Given the description of an element on the screen output the (x, y) to click on. 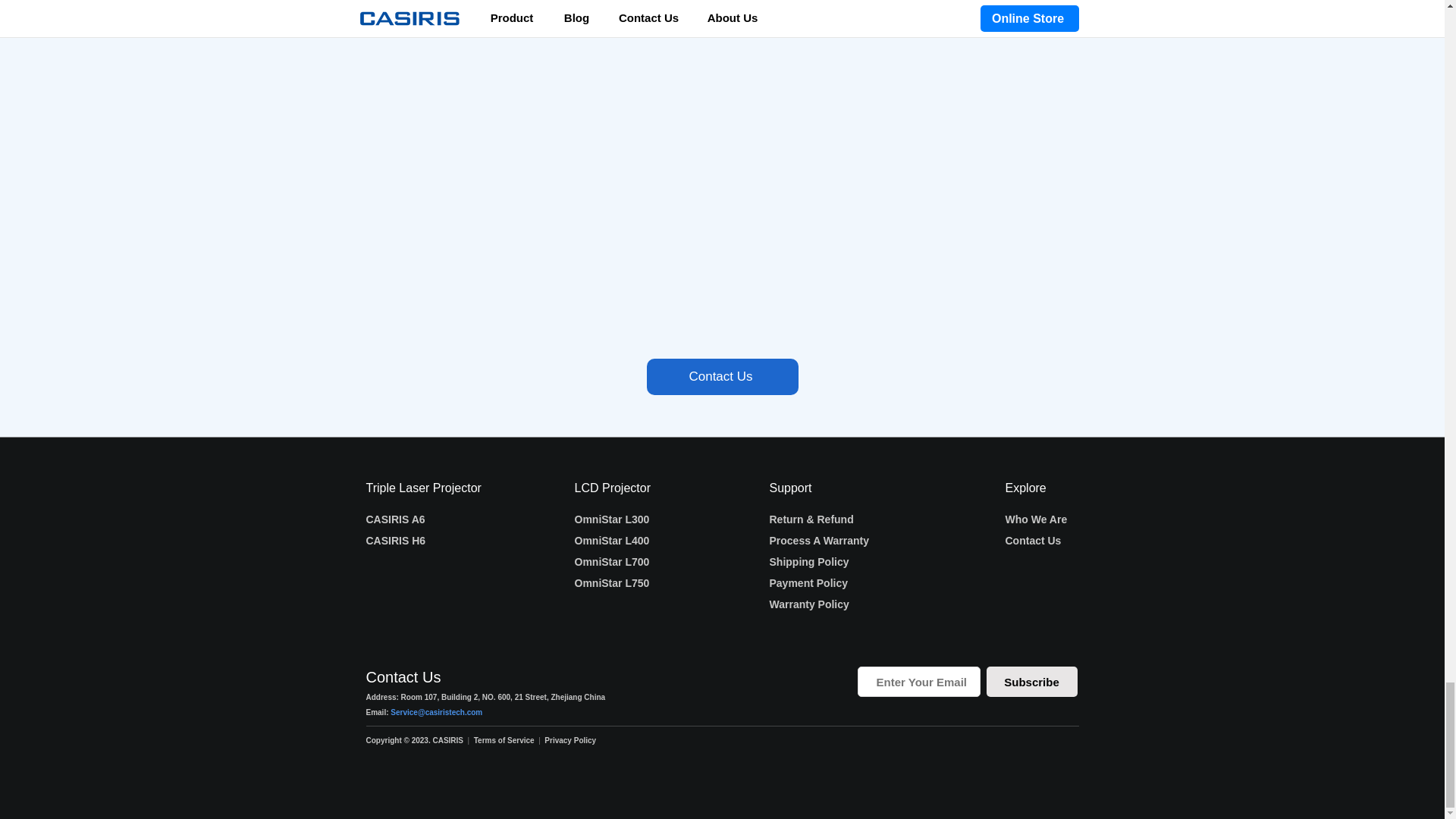
CASIRIS H6 (395, 540)
CASIRIS A6 (395, 519)
OmniStar L700 (612, 562)
Terms of Service (504, 740)
OmniStar L300 (612, 519)
Privacy Policy (569, 740)
Subscribe (1031, 681)
Shipping Policy (808, 562)
Warranty Policy (808, 604)
Payment Policy (807, 582)
